Given the description of an element on the screen output the (x, y) to click on. 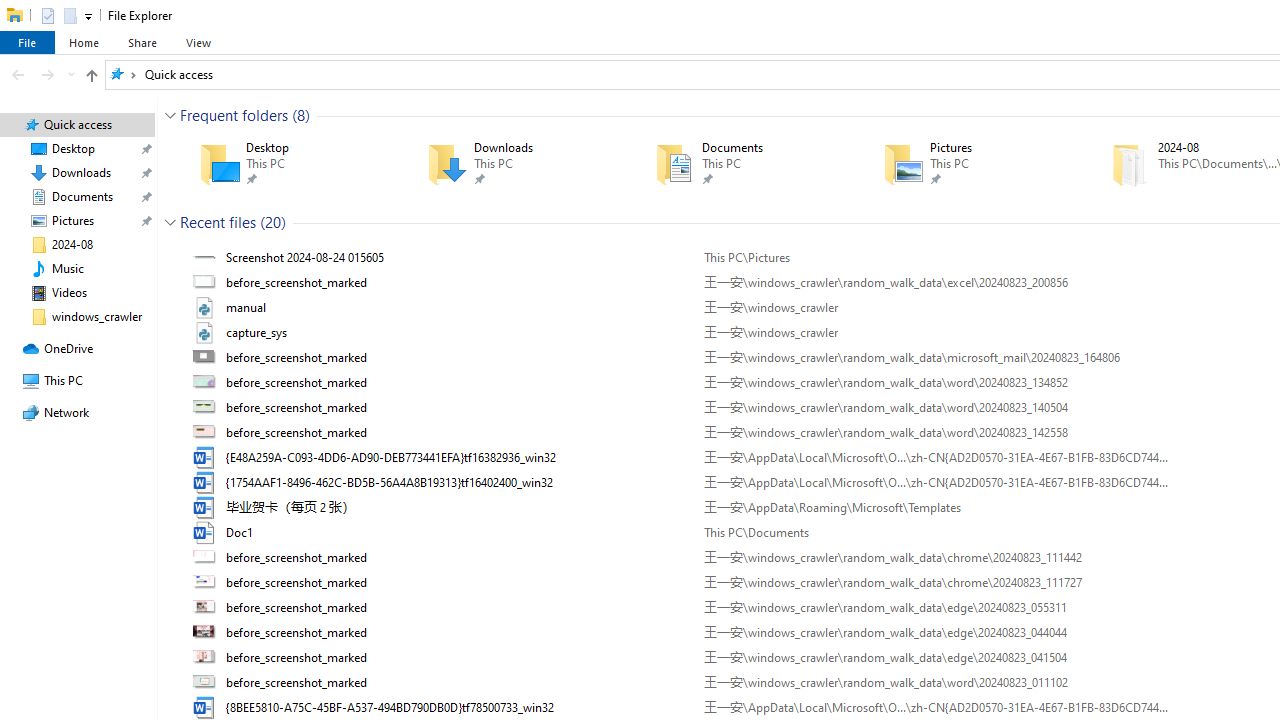
Pinned (1002, 179)
Recent locations (70, 74)
New folder (69, 14)
Home (83, 42)
Downloads (512, 164)
Up to "Desktop" (Alt + Up Arrow) (91, 75)
Share (142, 42)
All locations (123, 74)
Count (273, 222)
Name (457, 683)
